Given the description of an element on the screen output the (x, y) to click on. 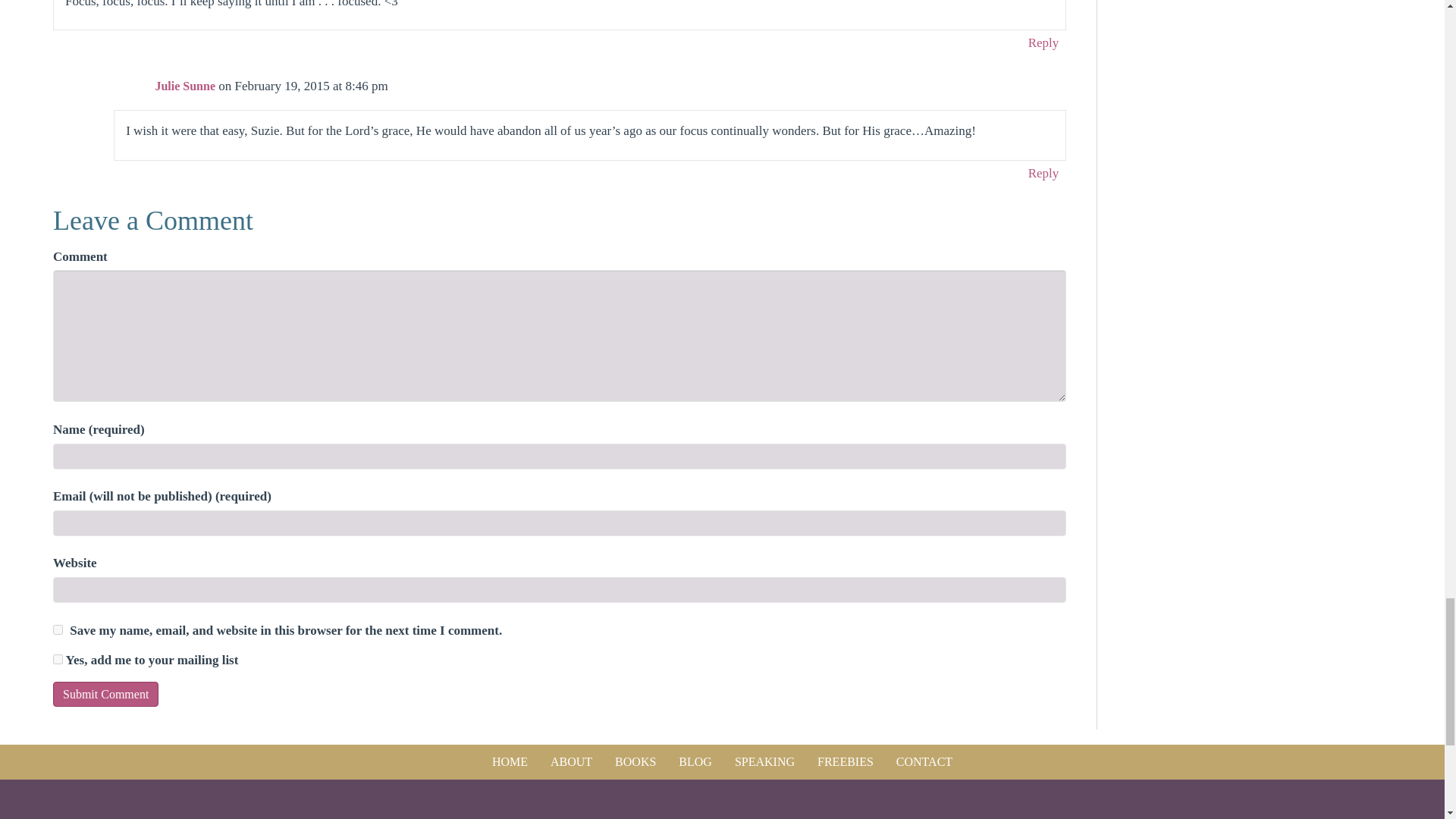
Reply (1043, 42)
1 (57, 659)
Reply (1043, 173)
yes (57, 629)
Submit Comment (105, 693)
Julie Sunne (184, 85)
